Given the description of an element on the screen output the (x, y) to click on. 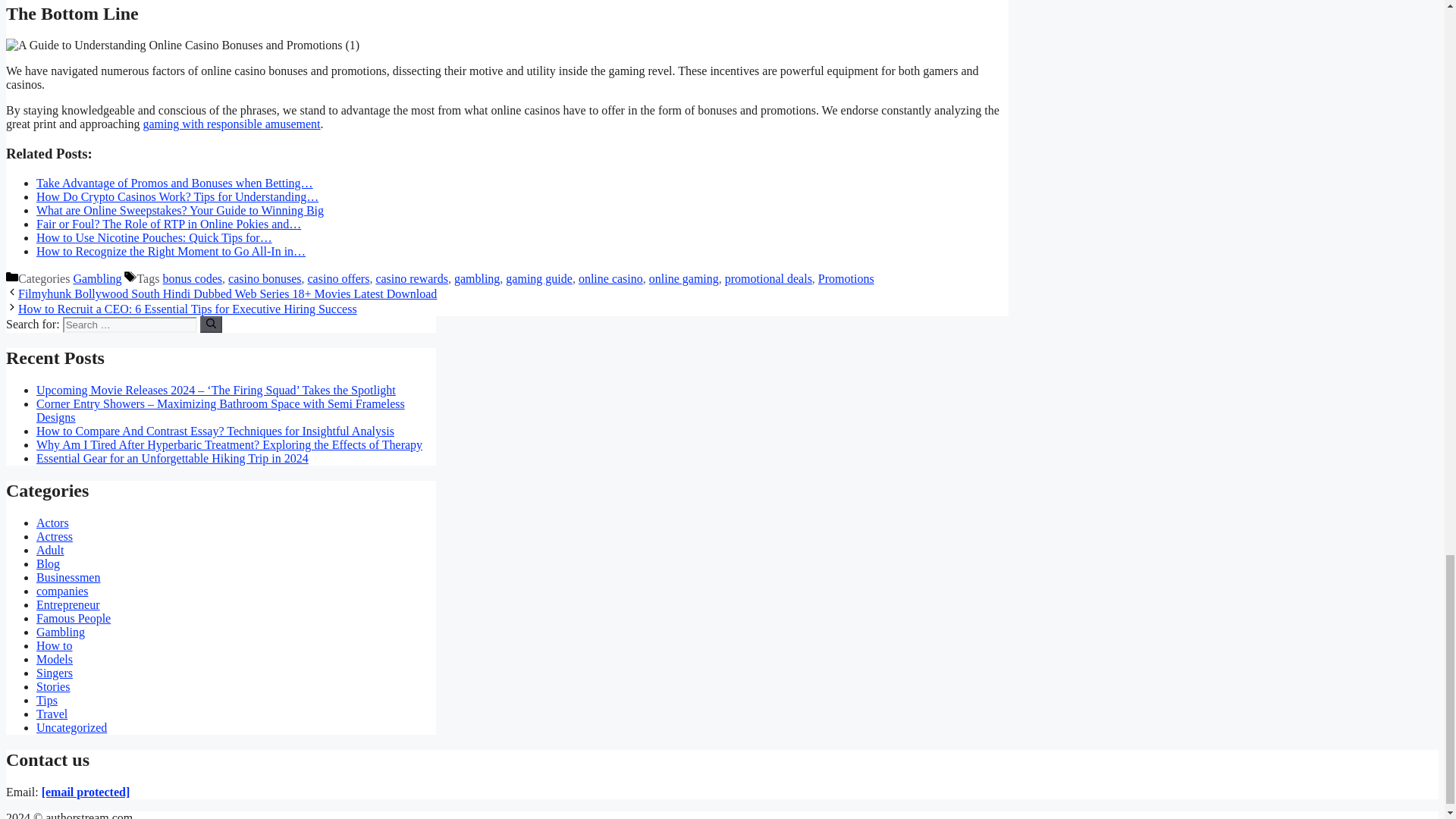
Actors (52, 522)
gaming with responsible amusement (231, 123)
What are Online Sweepstakes? Your Guide to Winning Big (179, 210)
online casino (610, 278)
online gaming (684, 278)
bonus codes (191, 278)
Gambling (96, 278)
